Given the description of an element on the screen output the (x, y) to click on. 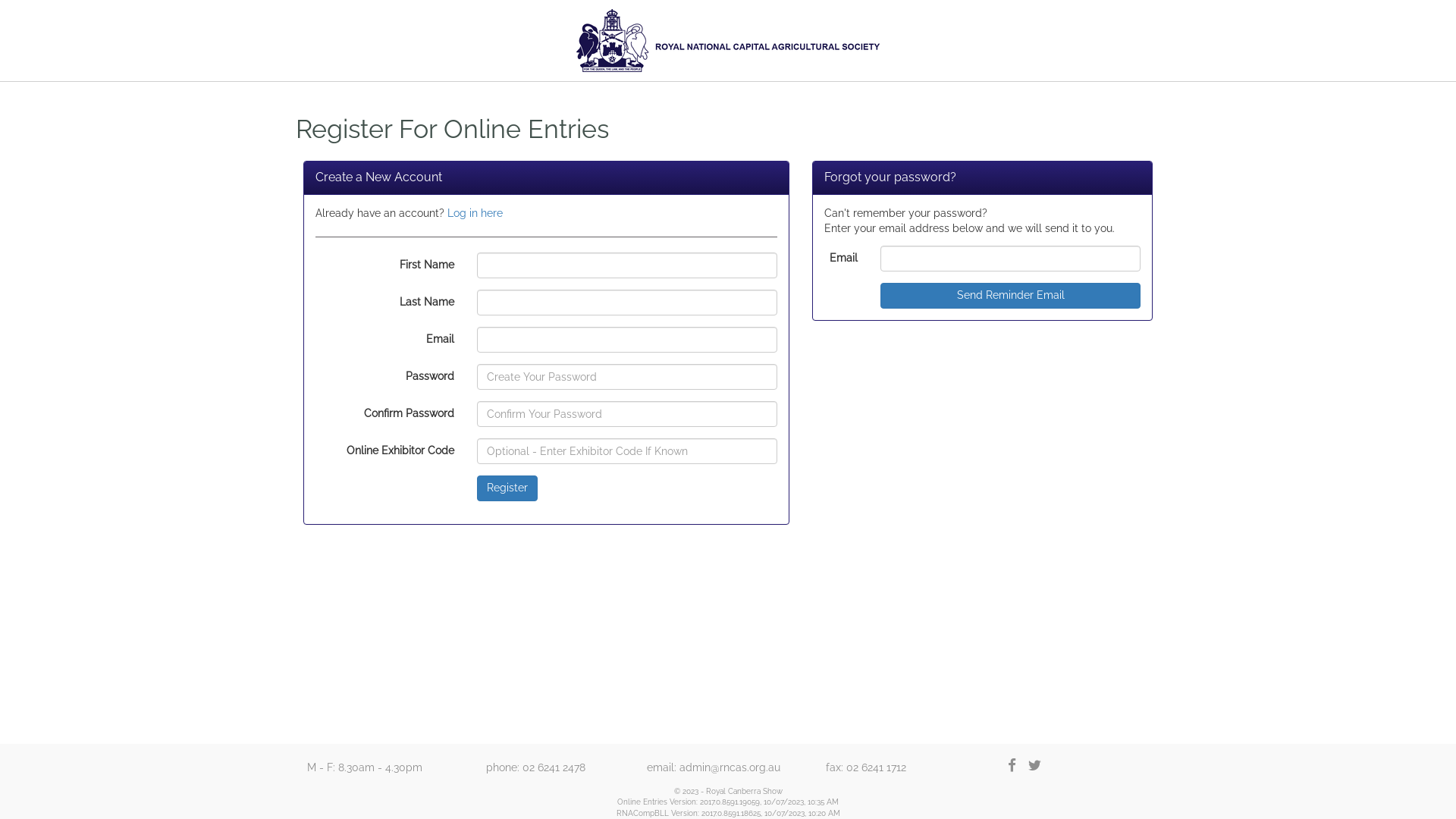
Log in here Element type: text (474, 213)
Register Element type: text (506, 488)
Send Reminder Email Element type: text (1010, 295)
